Given the description of an element on the screen output the (x, y) to click on. 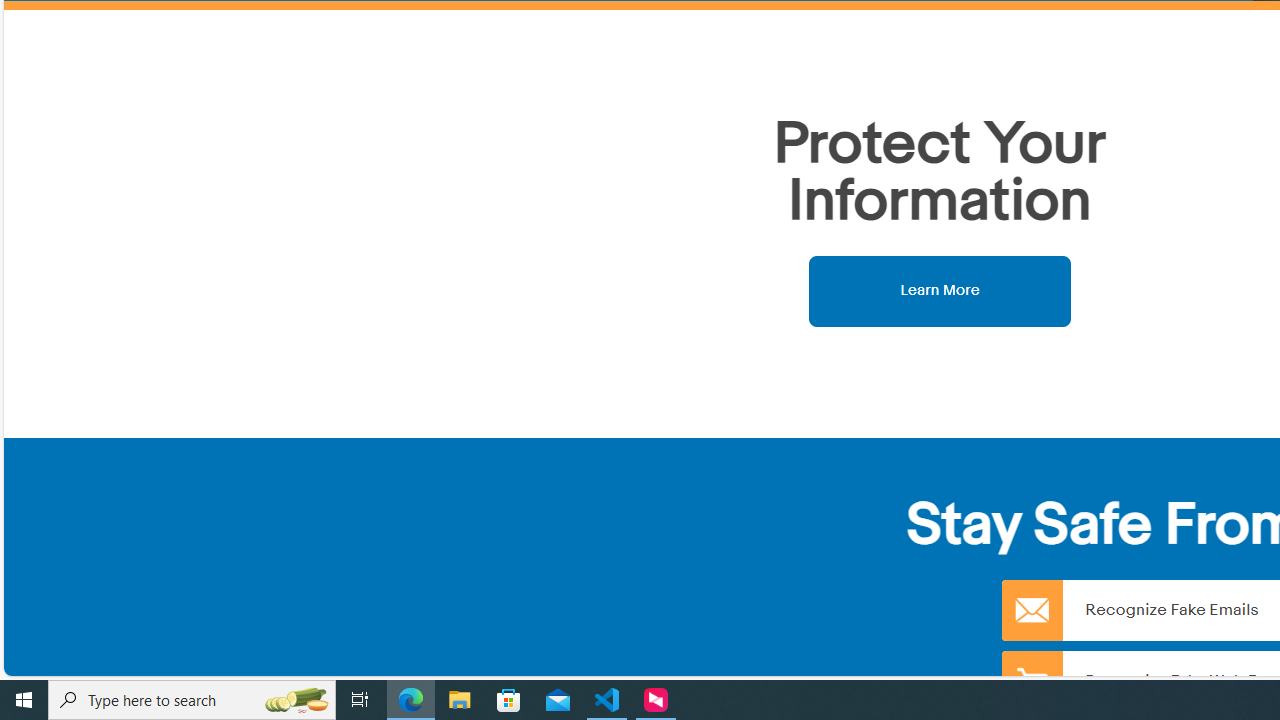
Learn More (939, 290)
